Given the description of an element on the screen output the (x, y) to click on. 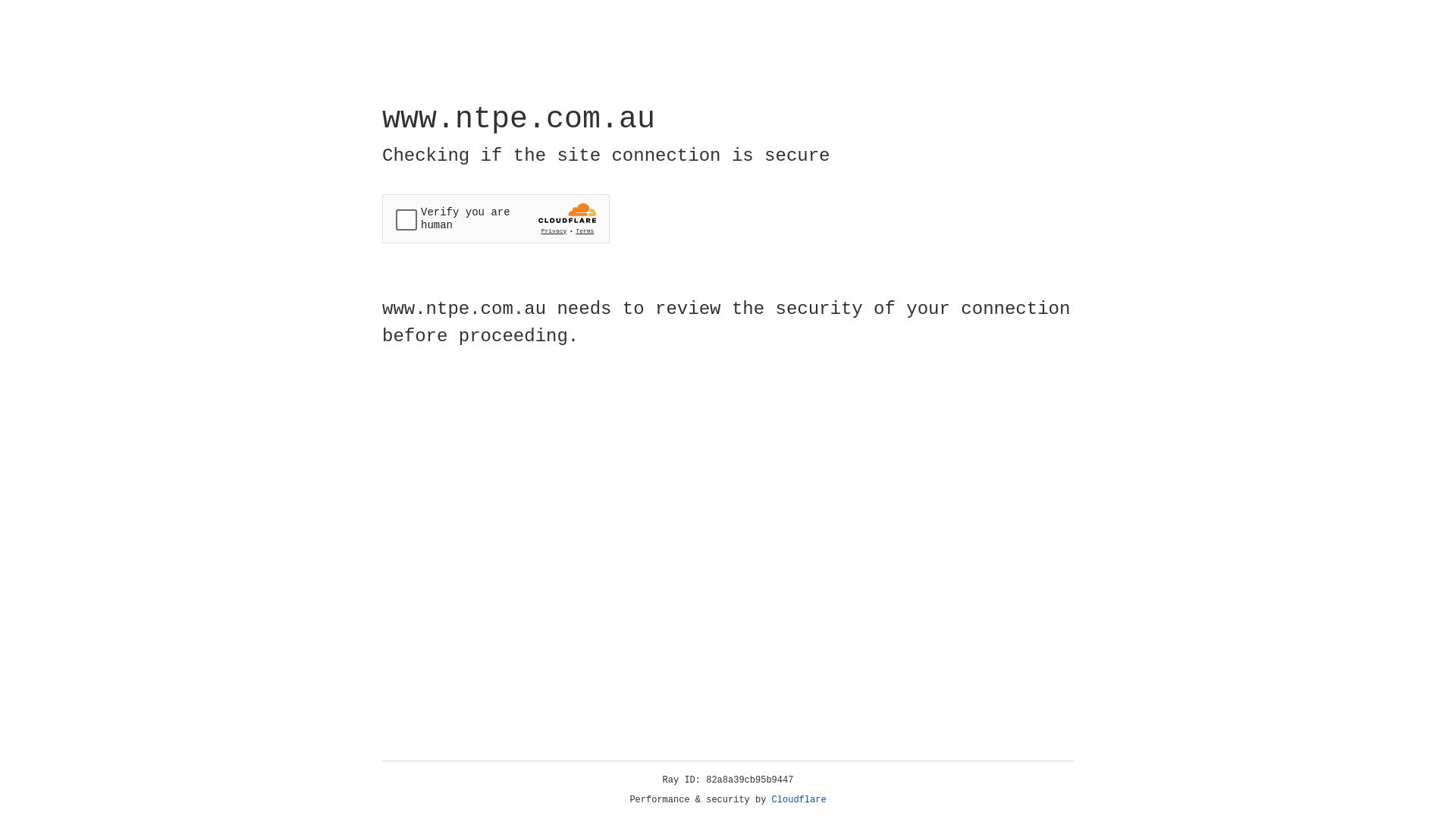
Cloudflare Element type: text (798, 799)
Widget containing a Cloudflare security challenge Element type: hover (495, 218)
